Given the description of an element on the screen output the (x, y) to click on. 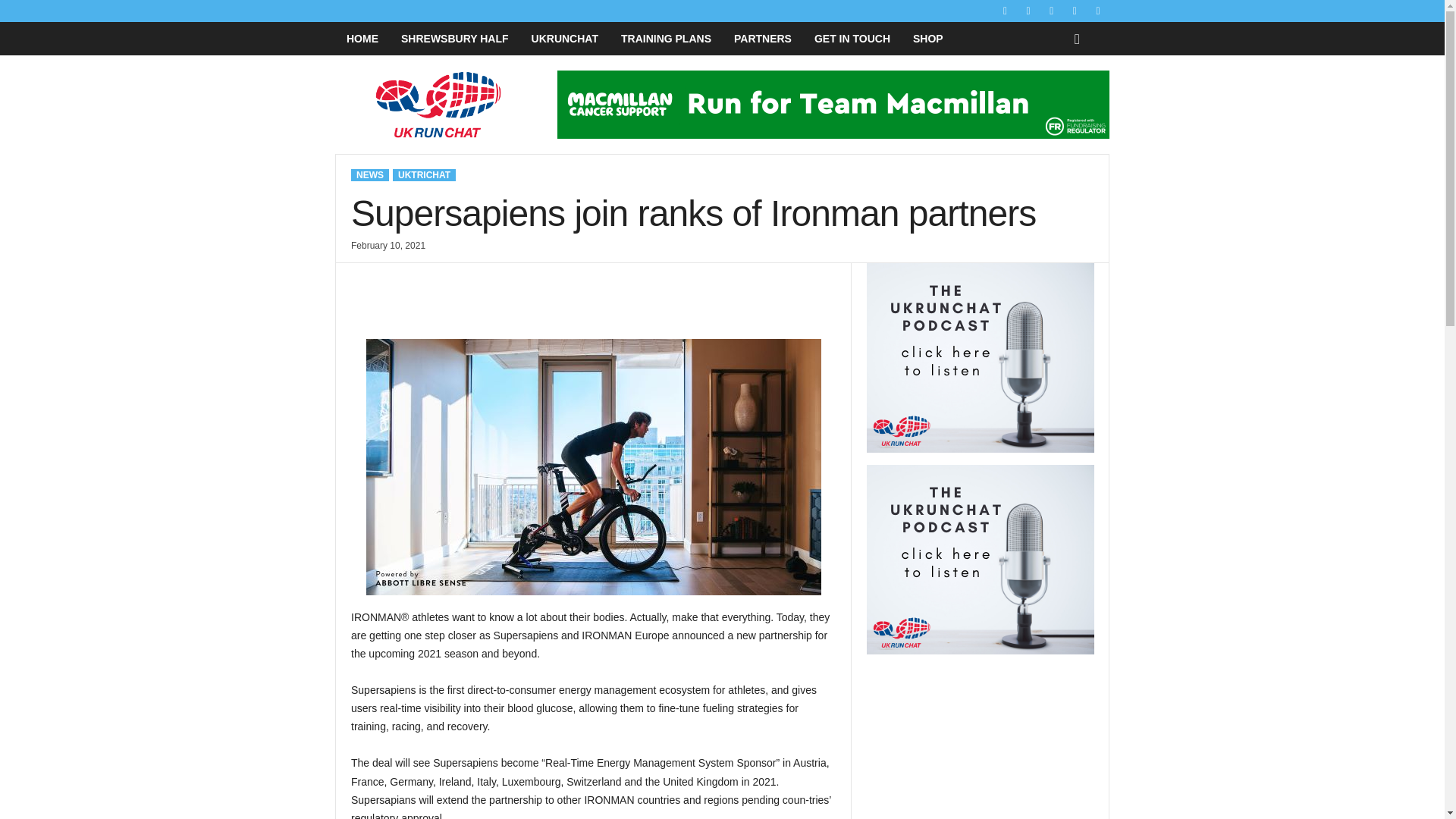
topFacebookLike (390, 278)
SHREWSBURY HALF (454, 38)
UKRUNCHAT (564, 38)
HOME (362, 38)
